Given the description of an element on the screen output the (x, y) to click on. 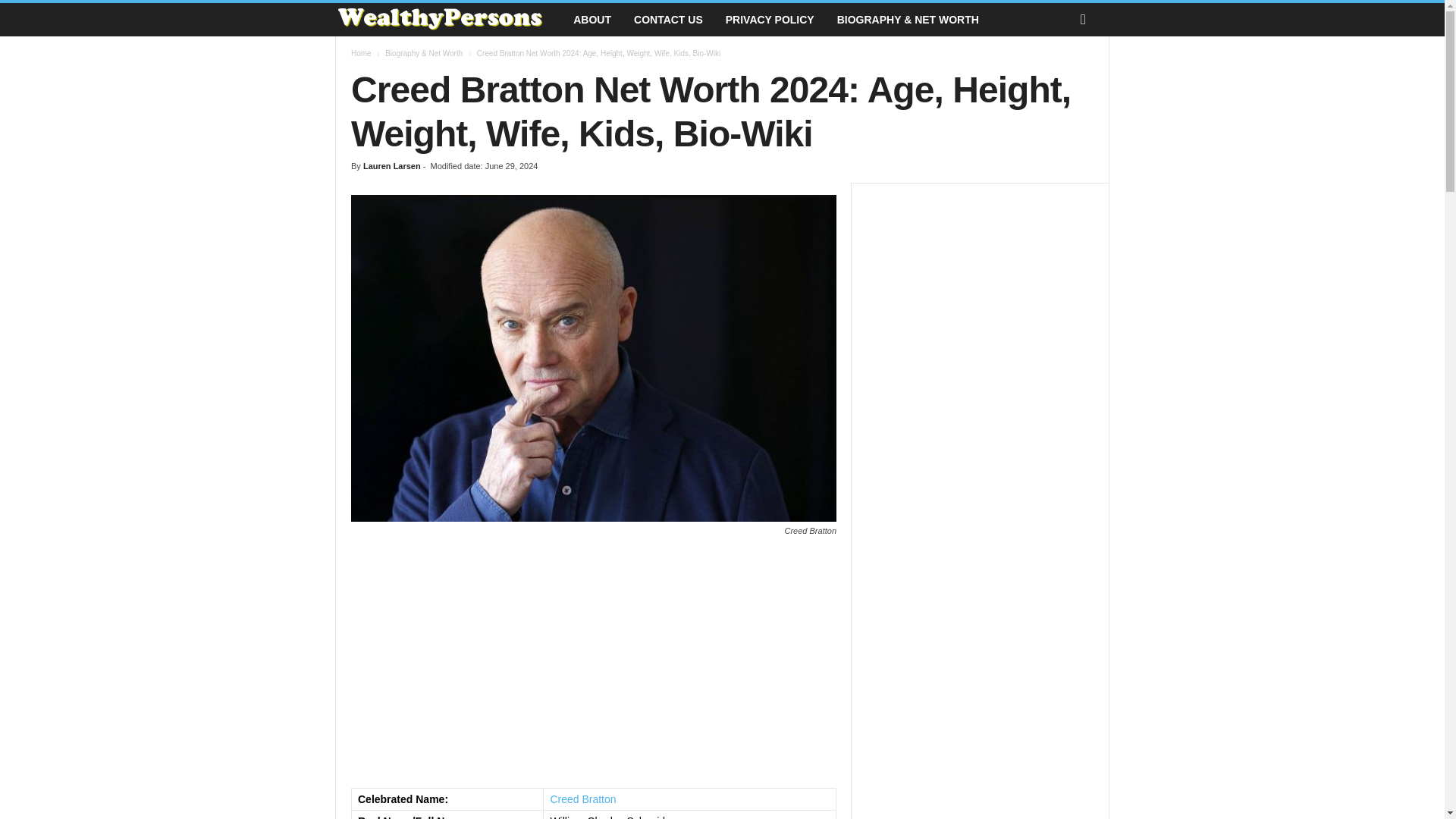
Advertisement (592, 662)
Lauren Larsen (391, 165)
Wealthy Persons (448, 19)
Creed Bratton (582, 799)
Advertisement (980, 756)
ABOUT (592, 19)
PRIVACY POLICY (769, 19)
Home (360, 53)
CONTACT US (668, 19)
